Given the description of an element on the screen output the (x, y) to click on. 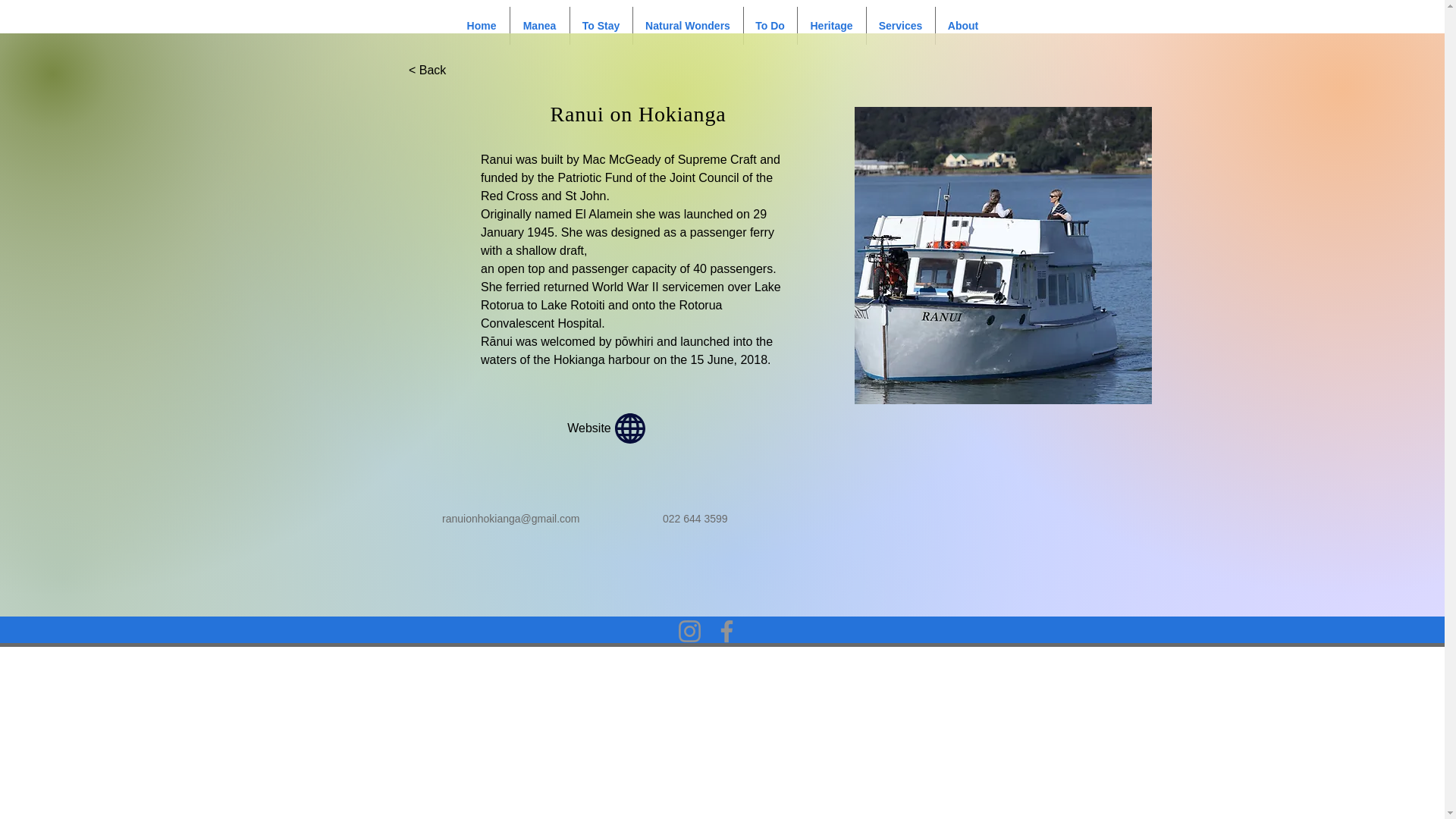
Natural Wonders (686, 25)
Website (608, 428)
About (963, 25)
Heritage (831, 25)
To Stay (600, 25)
To Do (769, 25)
Home (480, 25)
Services (900, 25)
Manea (539, 25)
